Given the description of an element on the screen output the (x, y) to click on. 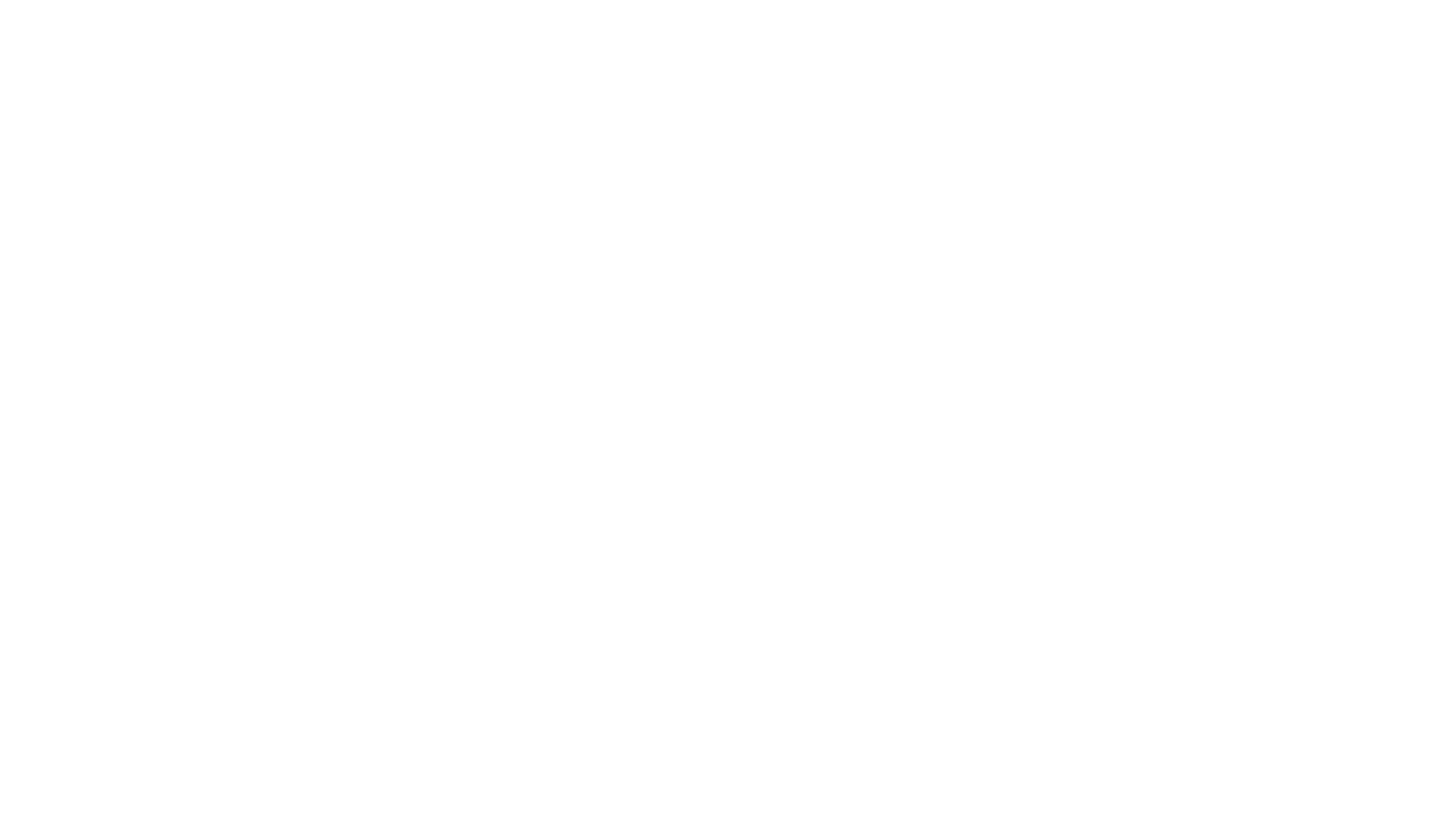
30a St Patricks Parade Festival Element type: text (326, 81)
